Given the description of an element on the screen output the (x, y) to click on. 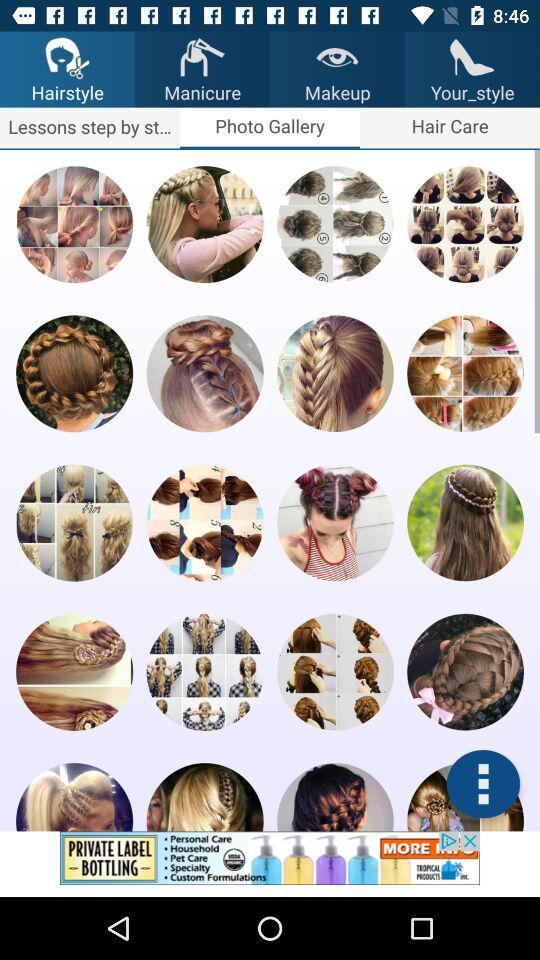
select the hairstyle (335, 522)
